Given the description of an element on the screen output the (x, y) to click on. 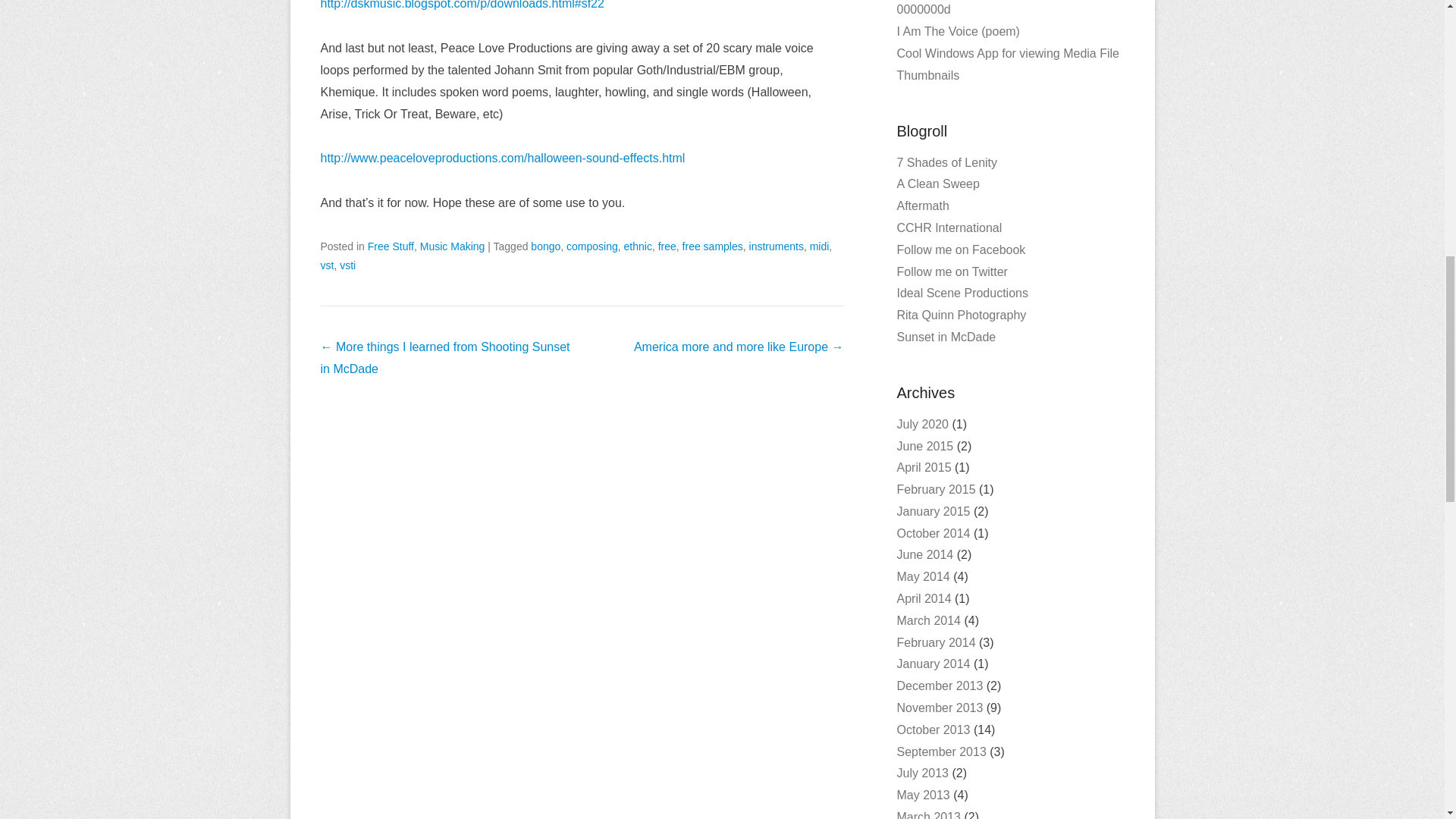
midi (819, 246)
DSM Music (462, 4)
instruments (776, 246)
Free Stuff (390, 246)
Peace Love Productions (502, 157)
vst (326, 265)
free (667, 246)
vsti (347, 265)
composing (591, 246)
ethnic (638, 246)
Music Making (452, 246)
bongo (545, 246)
